Given the description of an element on the screen output the (x, y) to click on. 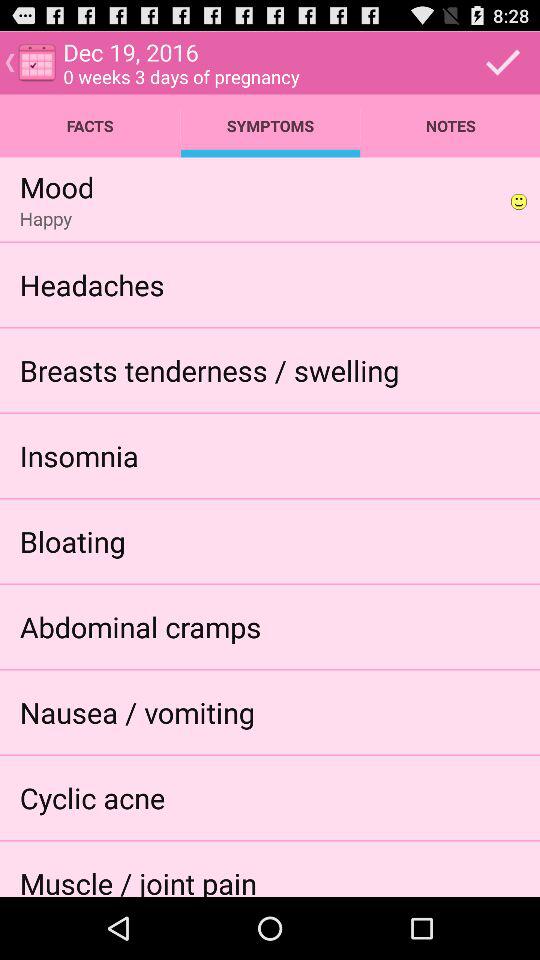
tap the insomnia app (78, 455)
